Given the description of an element on the screen output the (x, y) to click on. 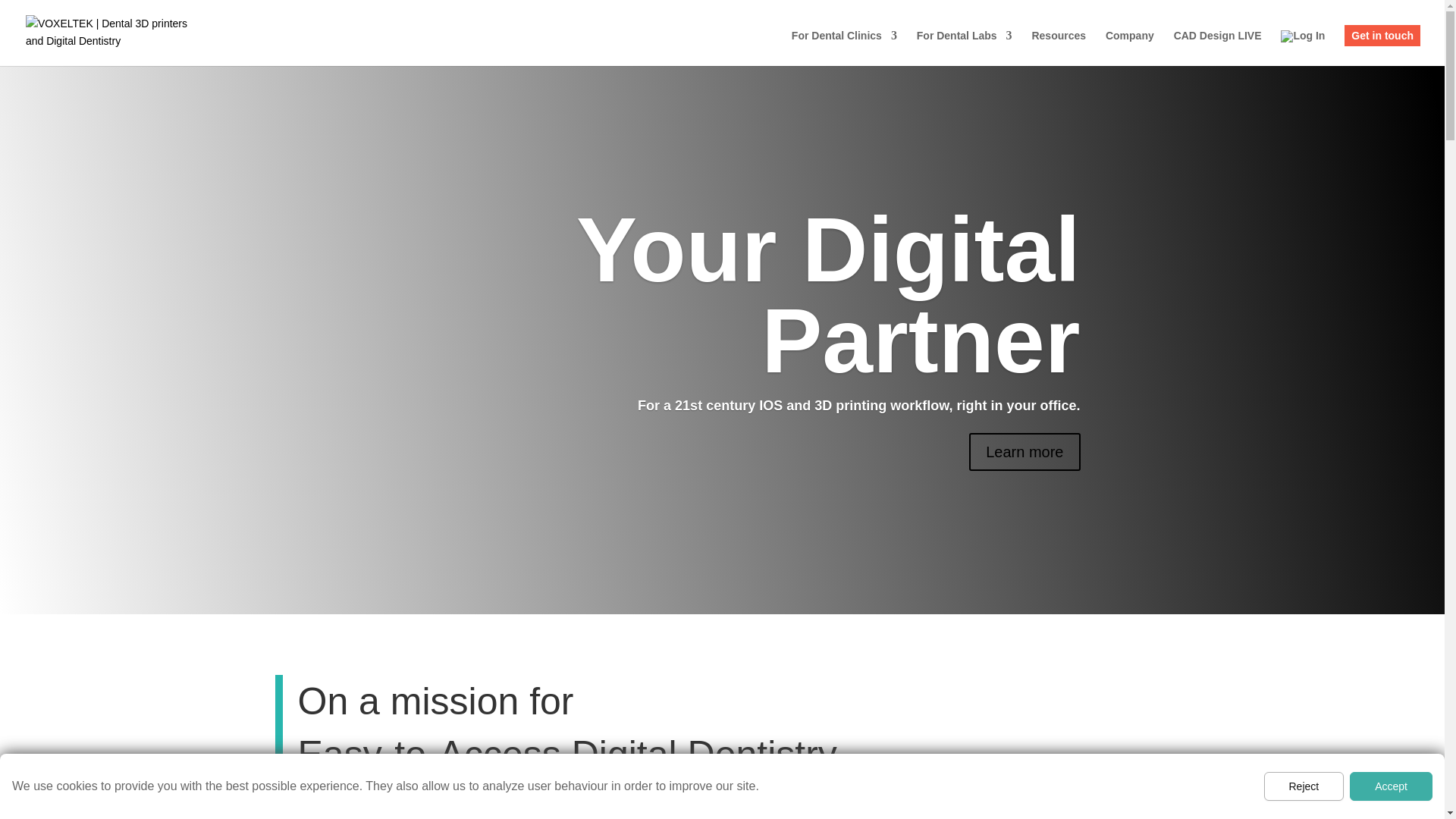
Company (1129, 48)
For Dental Labs (964, 48)
Resources (1058, 48)
Accept (1390, 786)
Reject (1303, 786)
For Dental Clinics (844, 48)
Get in touch (1382, 35)
CAD Design LIVE (1217, 48)
digital dentistry (1019, 782)
